Given the description of an element on the screen output the (x, y) to click on. 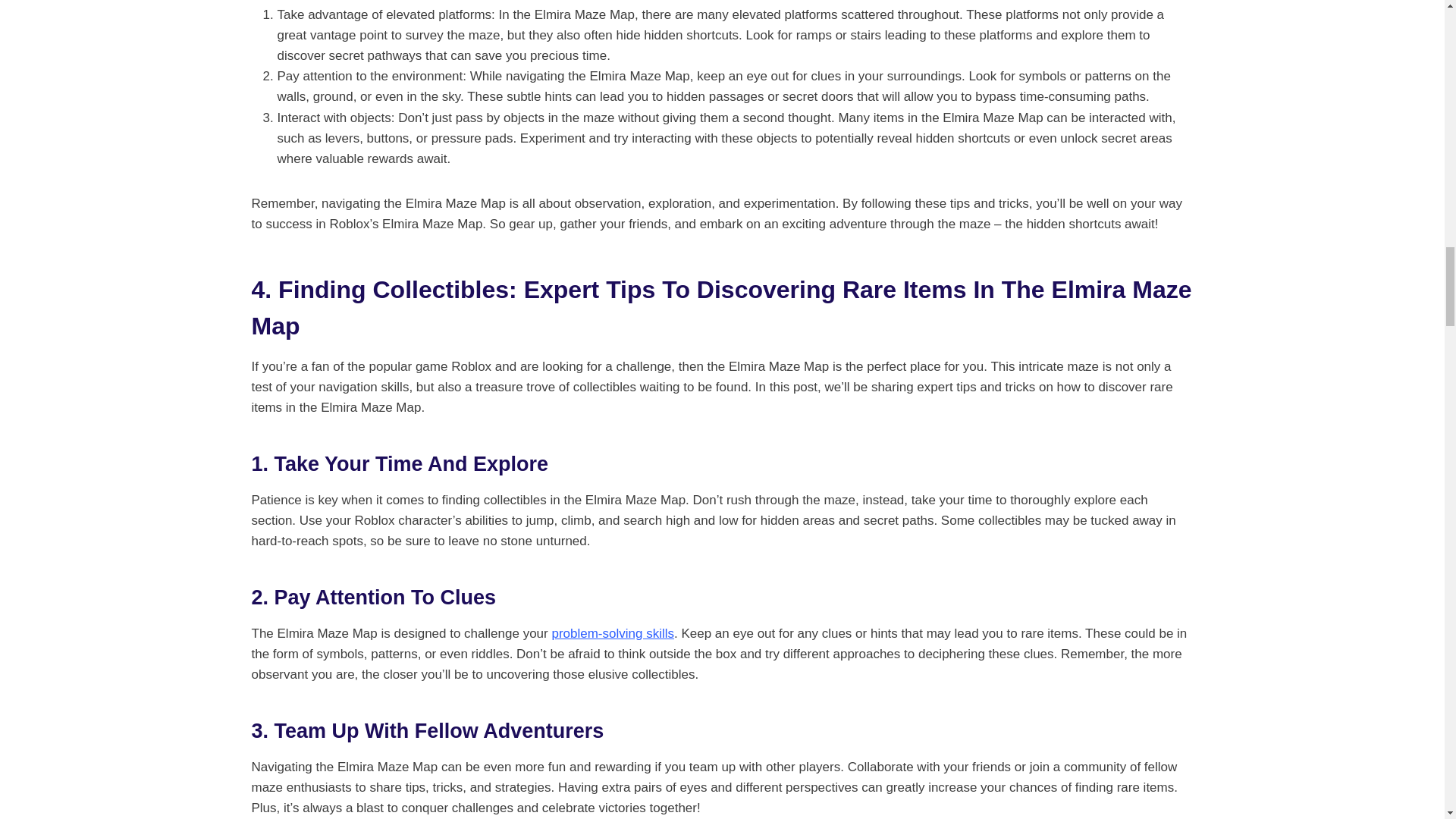
Diffle Wordle: Diving into Wordle Challenges (612, 633)
